Given the description of an element on the screen output the (x, y) to click on. 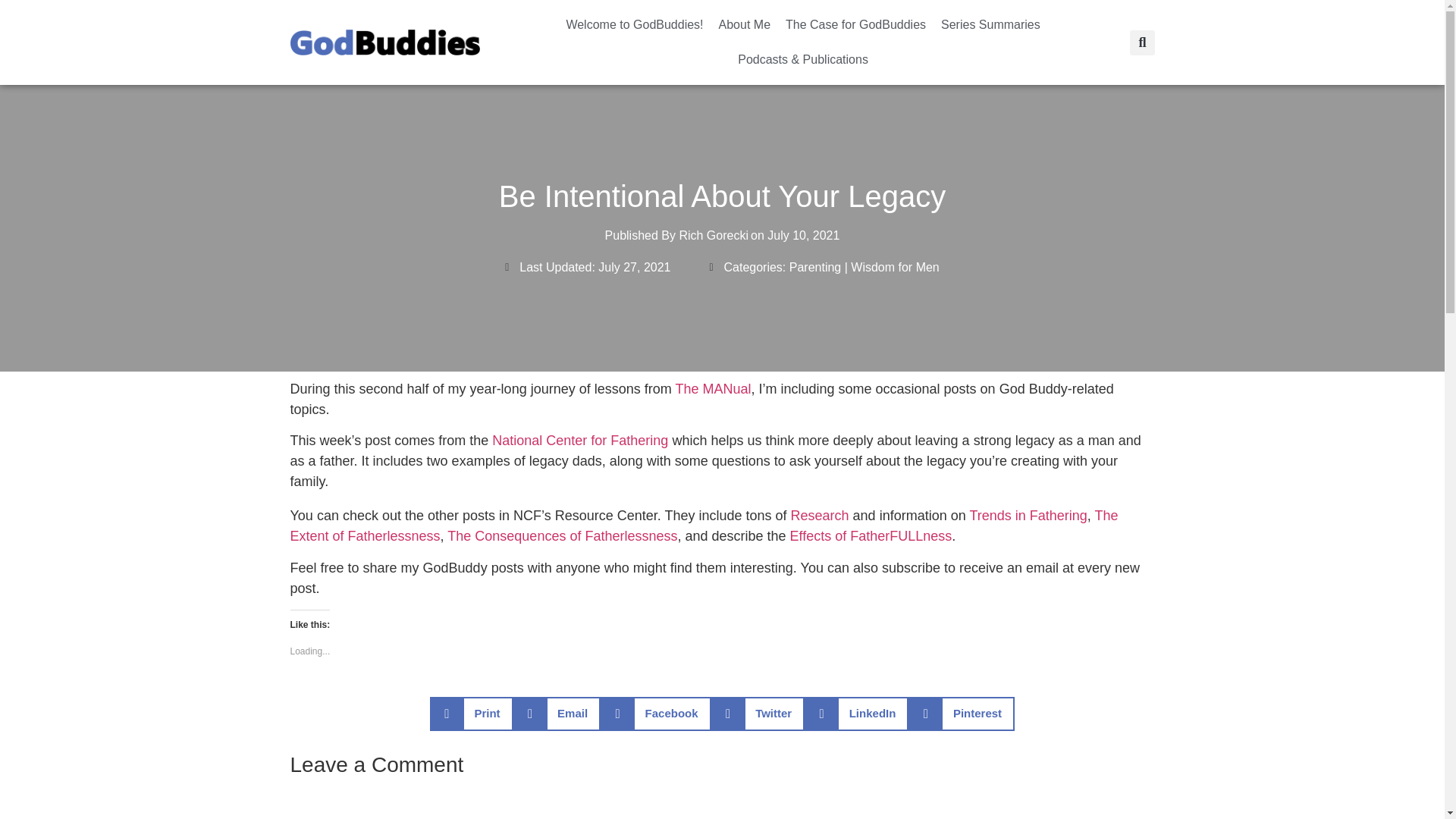
Welcome to GodBuddies! (633, 24)
The Consequences of Fatherlessness (561, 535)
Parenting (815, 267)
Research (819, 515)
The MANual (713, 388)
The Extent of Fatherlessness (703, 525)
The Case for GodBuddies (855, 24)
About Me (744, 24)
Series Summaries (990, 24)
Effects of FatherFULLness (871, 535)
